Given the description of an element on the screen output the (x, y) to click on. 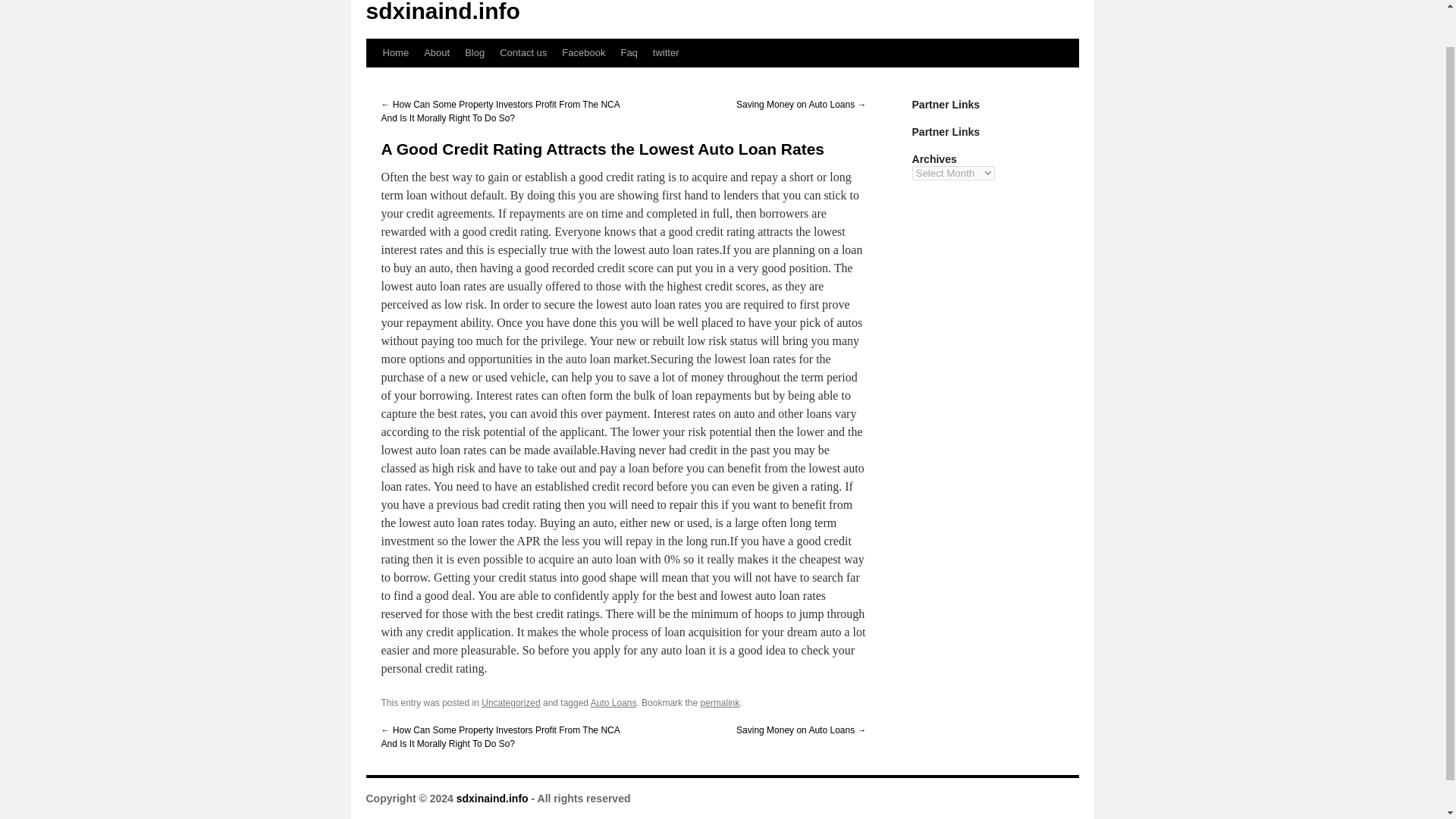
twitter (666, 52)
About (436, 52)
Faq (628, 52)
View all posts in Uncategorized (510, 702)
Uncategorized (510, 702)
Contact us (523, 52)
sdxinaind.info (492, 798)
sdxinaind.info (442, 11)
Facebook (583, 52)
Blog (474, 52)
sdxinaind.info (492, 798)
Home (395, 52)
Home (395, 52)
Auto Loans (614, 702)
